Given the description of an element on the screen output the (x, y) to click on. 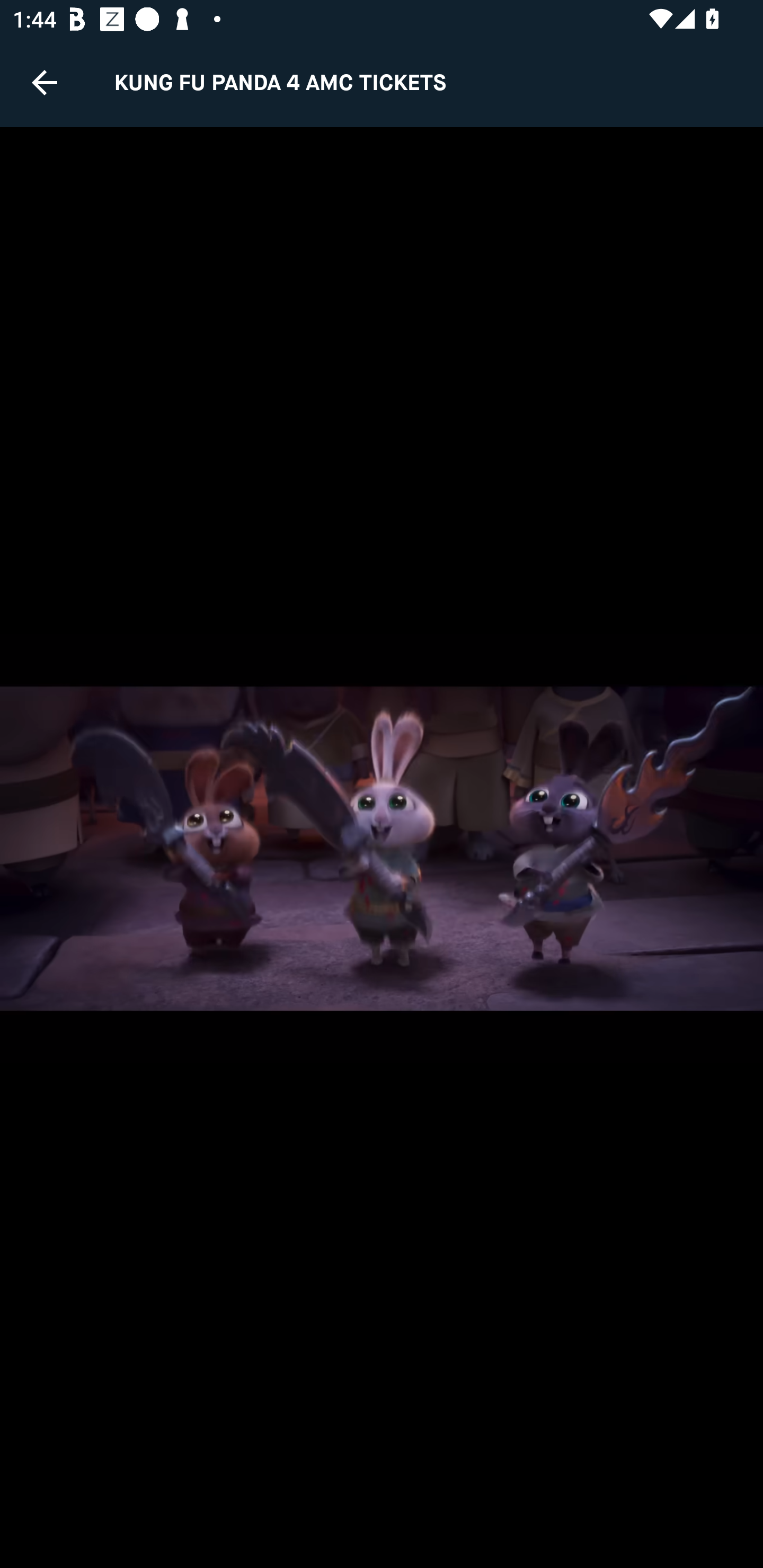
Navigate up (44, 82)
